Given the description of an element on the screen output the (x, y) to click on. 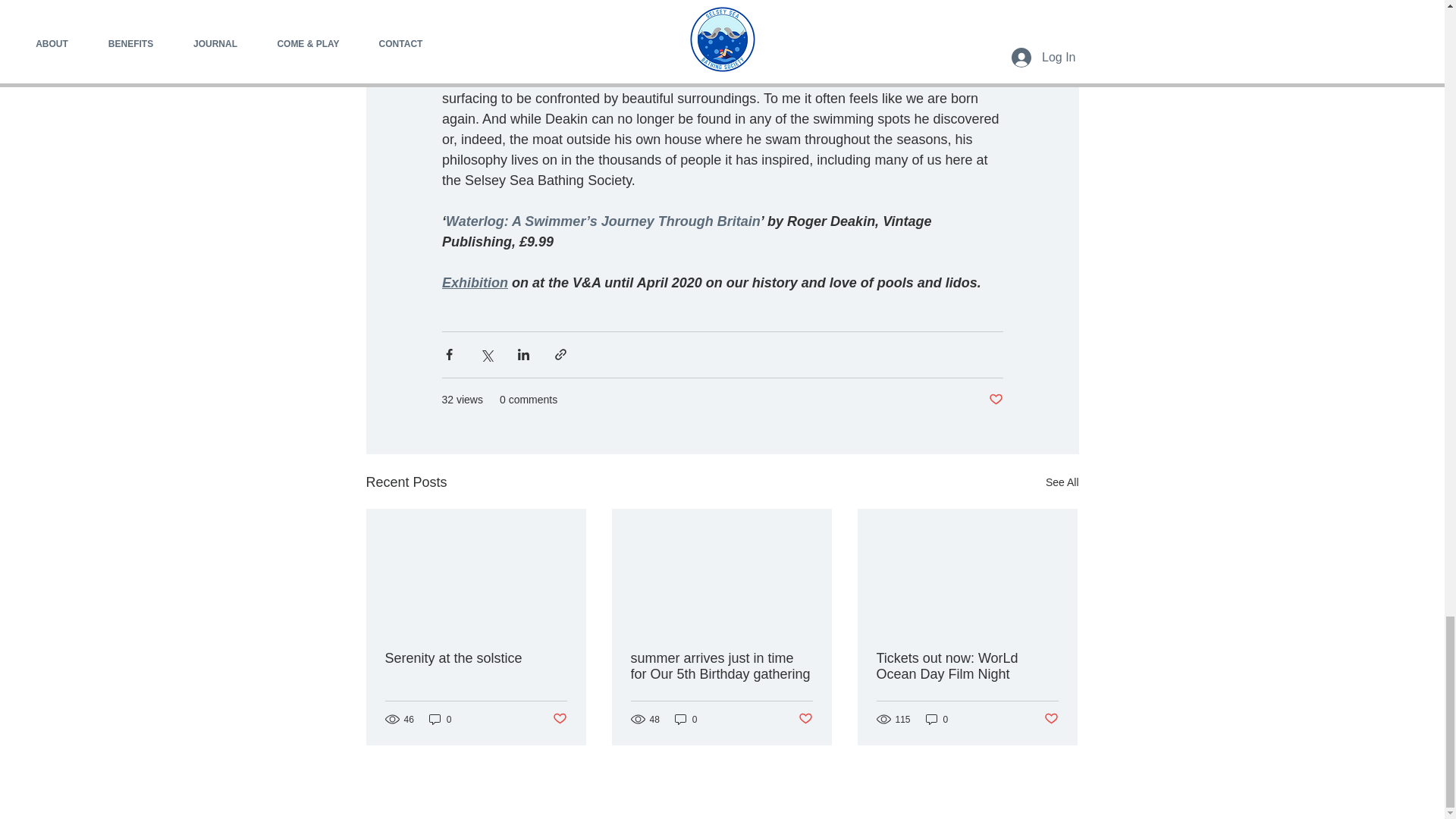
0 (937, 718)
Exhibition (473, 282)
See All (1061, 481)
Post not marked as liked (558, 719)
summer arrives just in time for Our 5th Birthday gathering (721, 665)
Post not marked as liked (995, 399)
0 (440, 718)
Post not marked as liked (804, 719)
Post not marked as liked (1050, 719)
Serenity at the solstice (476, 657)
